Given the description of an element on the screen output the (x, y) to click on. 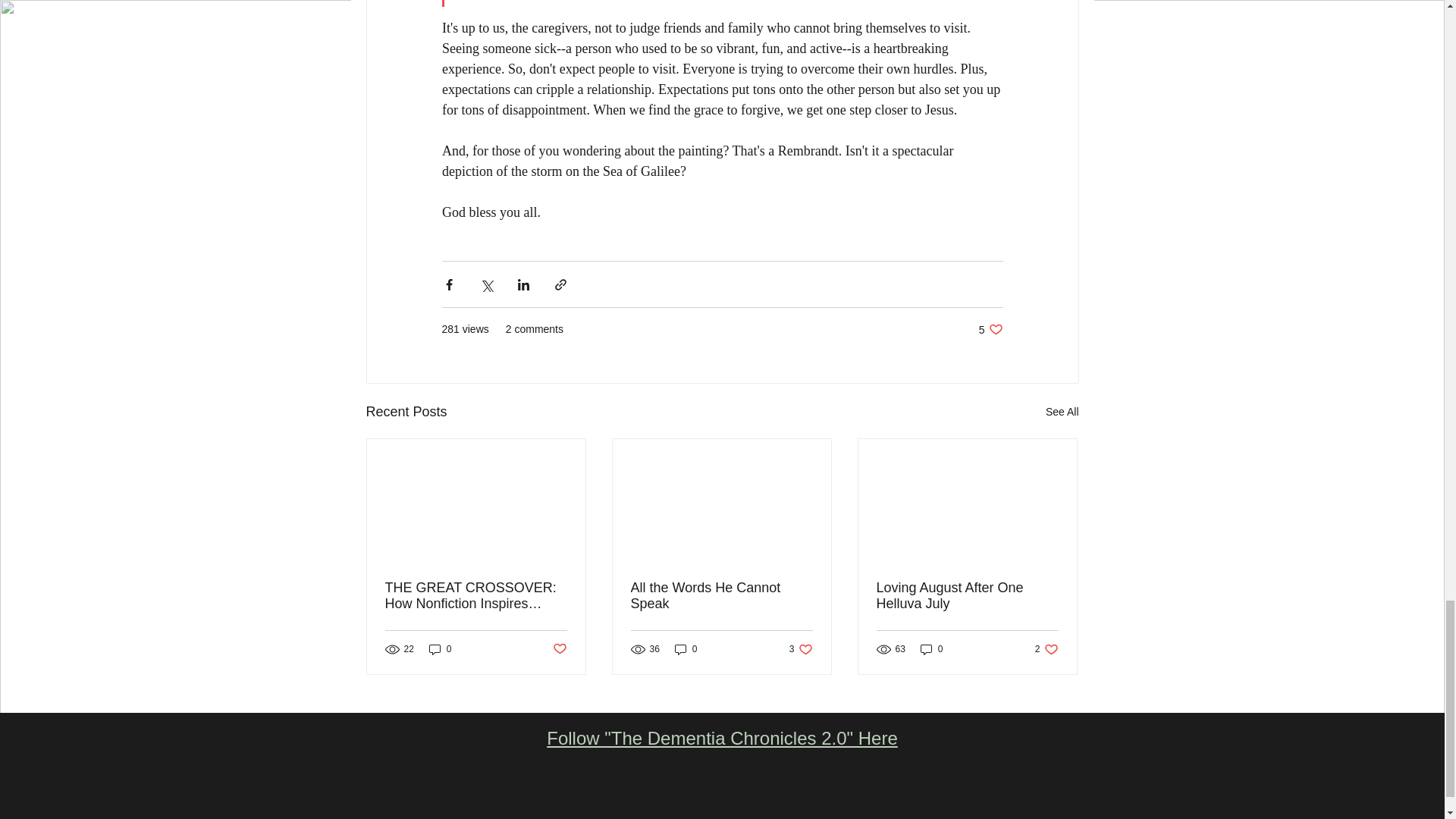
All the Words He Cannot Speak (1046, 649)
Follow "The Dementia Chronicles 2.0" Here (721, 595)
Post not marked as liked (722, 738)
0 (558, 649)
0 (990, 329)
0 (440, 649)
